Given the description of an element on the screen output the (x, y) to click on. 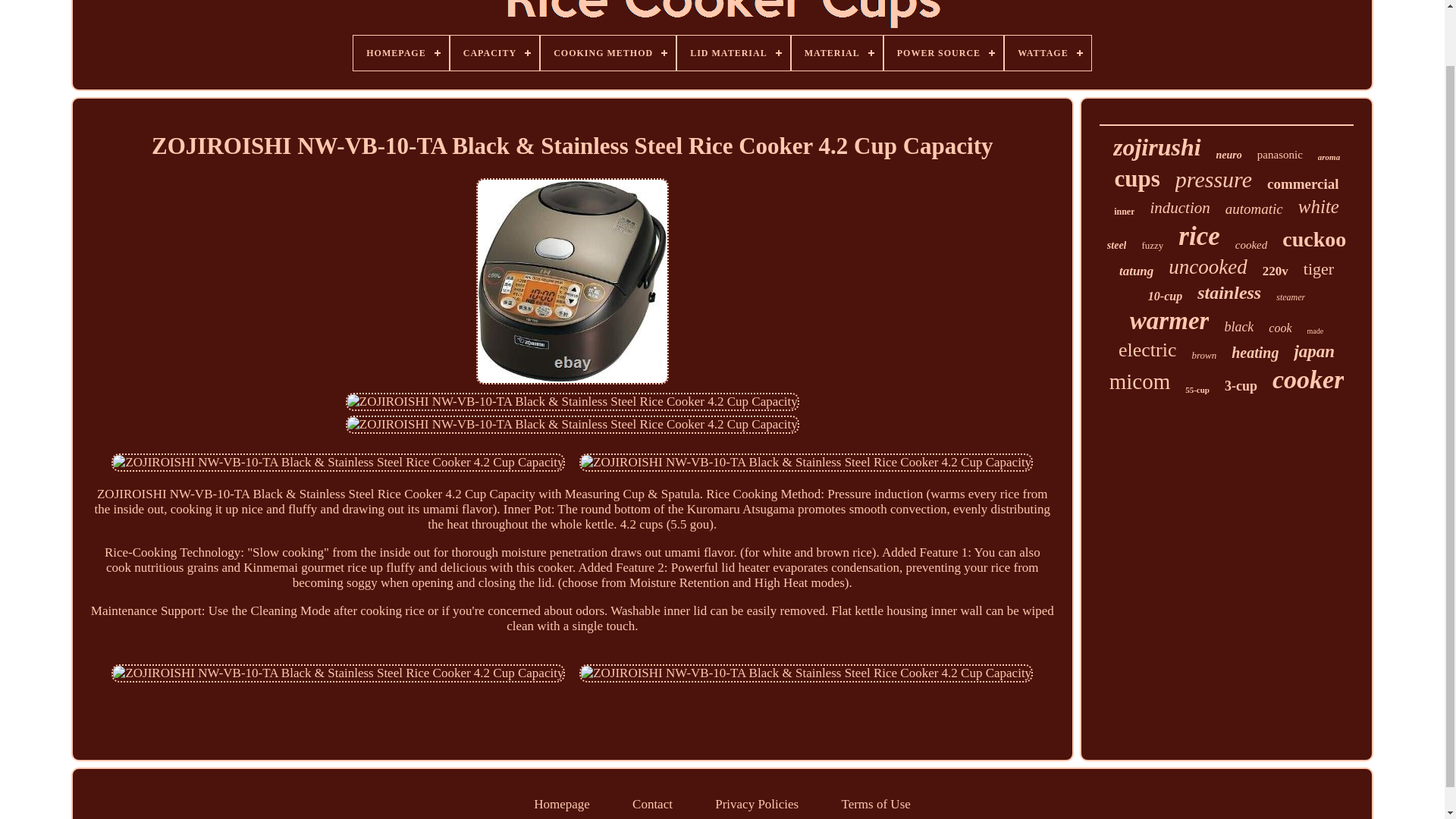
COOKING METHOD (607, 53)
HOMEPAGE (400, 53)
CAPACITY (493, 53)
